Given the description of an element on the screen output the (x, y) to click on. 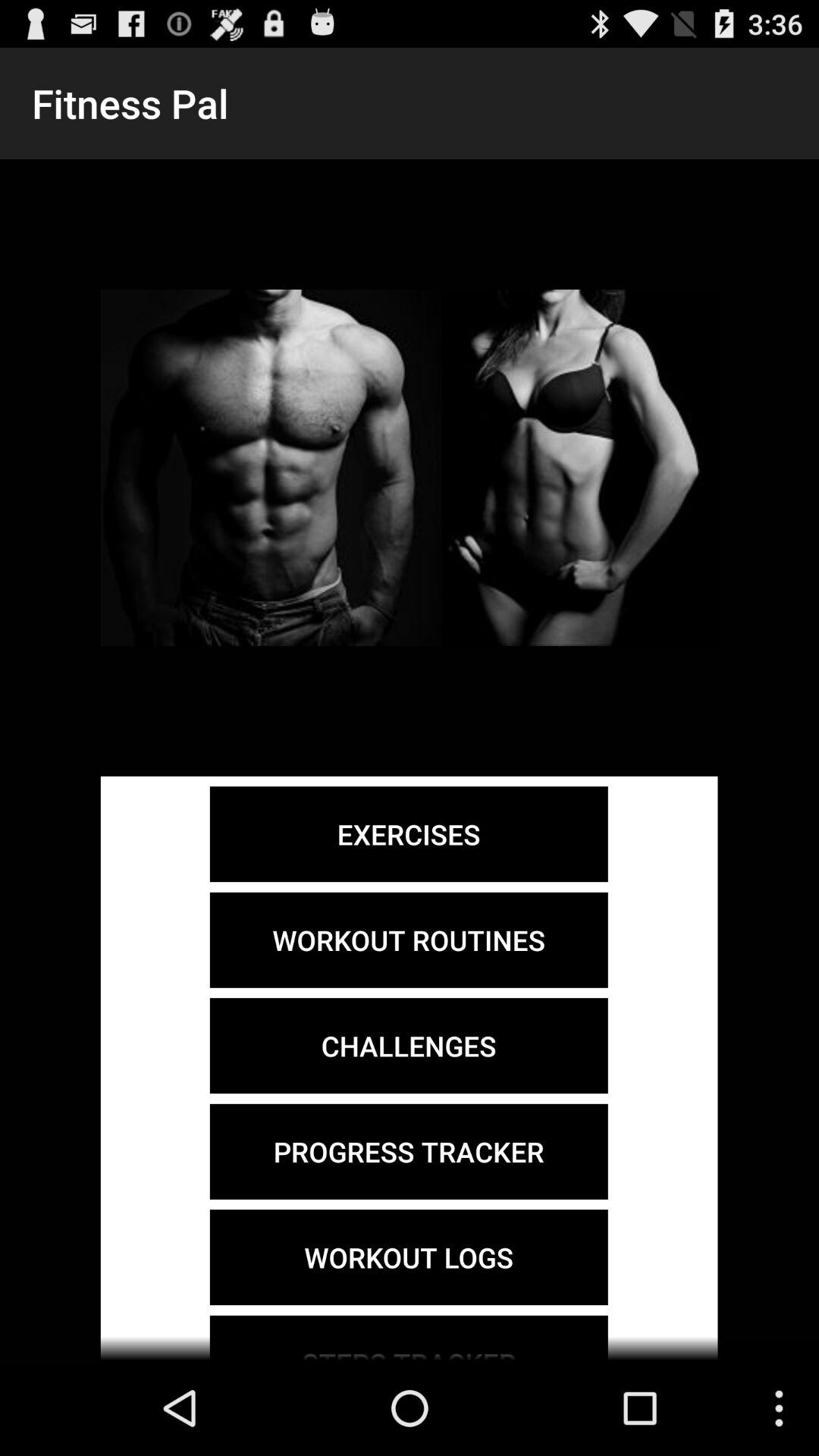
turn on steps tracker icon (408, 1337)
